Given the description of an element on the screen output the (x, y) to click on. 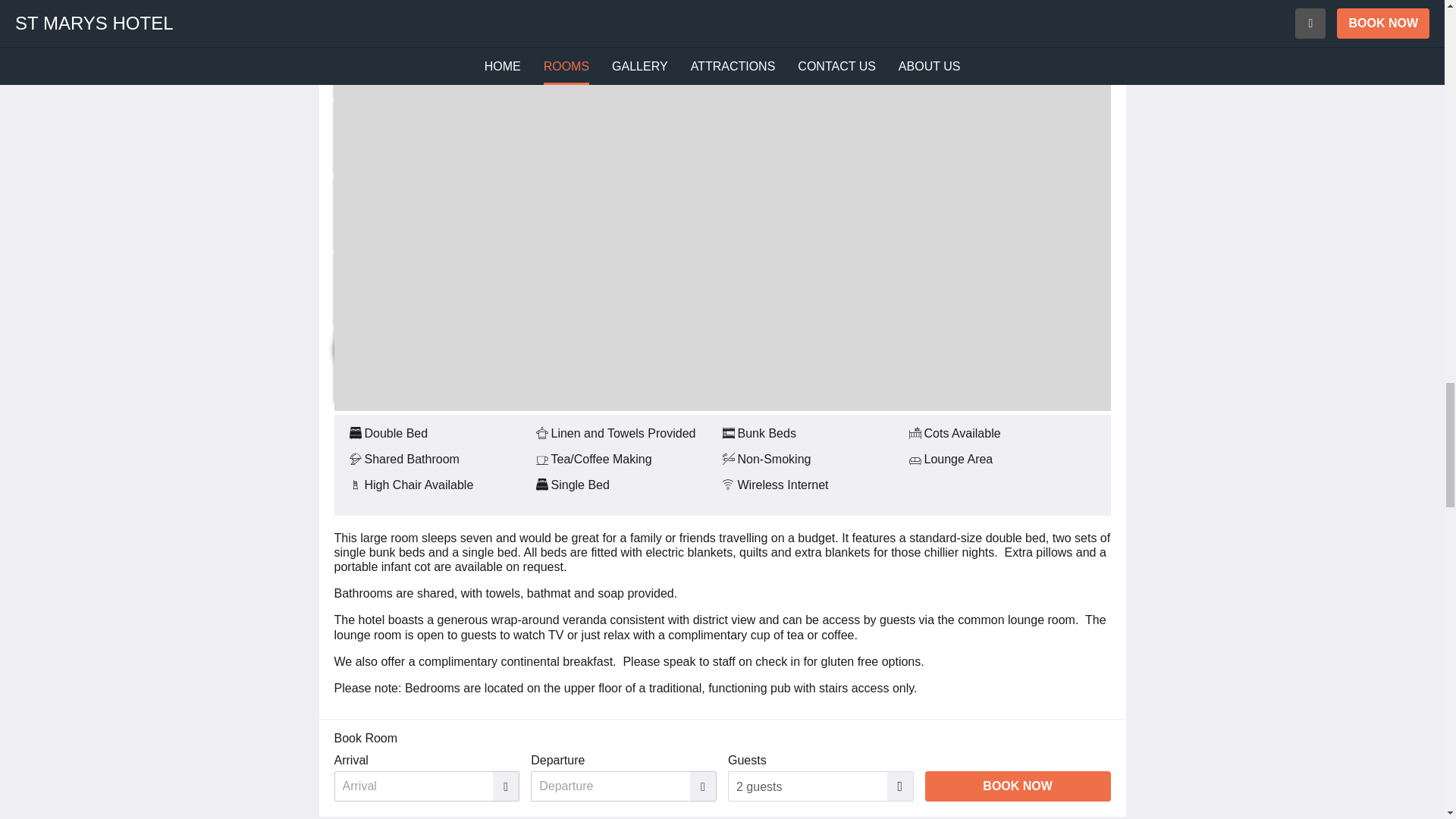
click to zoom-in (395, 137)
click to zoom-in (460, 61)
click to zoom-in (460, 12)
click to zoom-in (460, 365)
click to zoom-in (395, 289)
BOOK NOW (1017, 786)
click to zoom-in (460, 213)
